Given the description of an element on the screen output the (x, y) to click on. 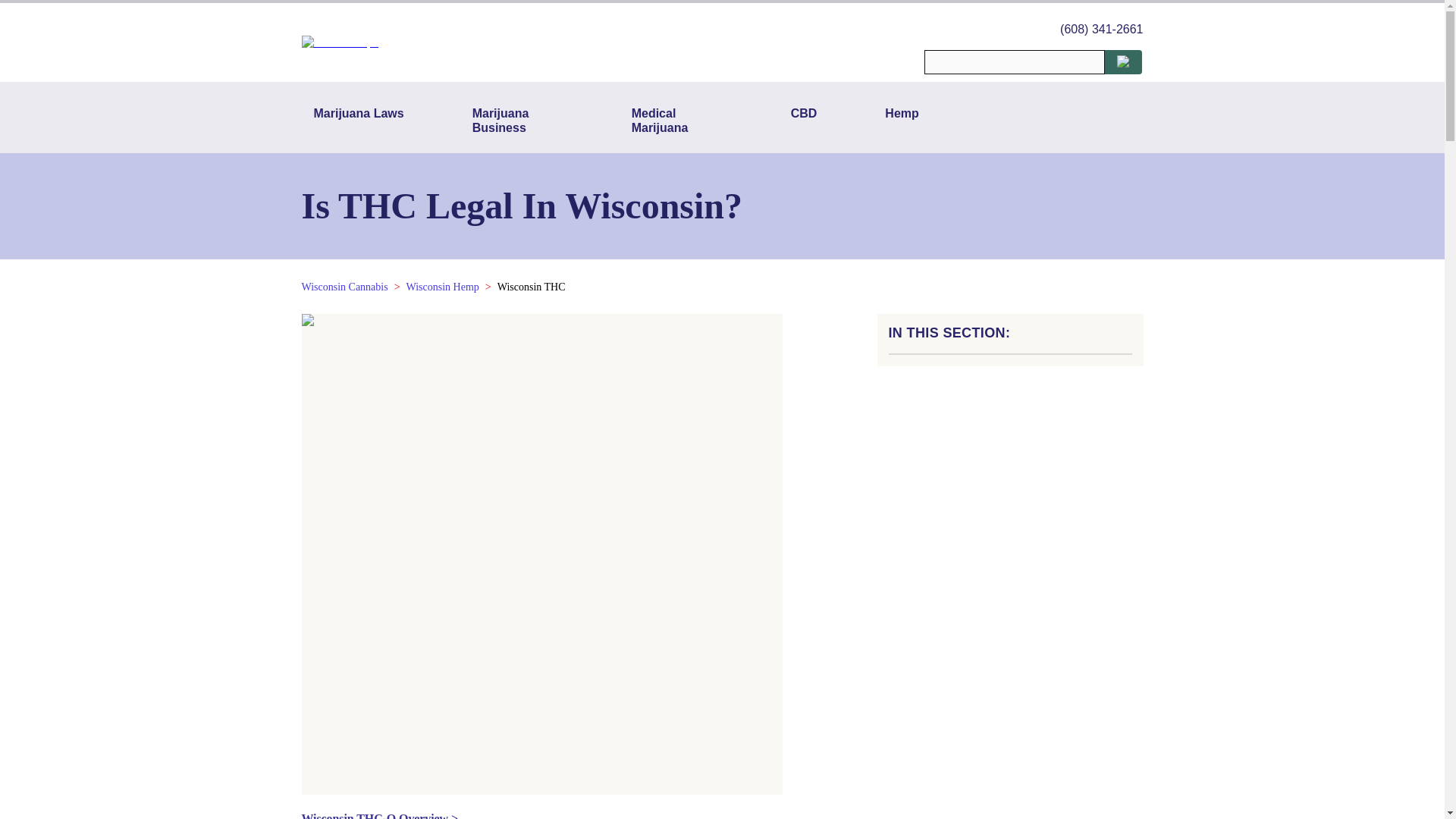
Marijuana Business (517, 119)
Hemp (901, 119)
Medical Marijuana (677, 119)
CBD (803, 119)
Wisconsin Cannabis (344, 286)
Wisconsin Hemp (442, 286)
Marijuana Laws (358, 119)
